Given the description of an element on the screen output the (x, y) to click on. 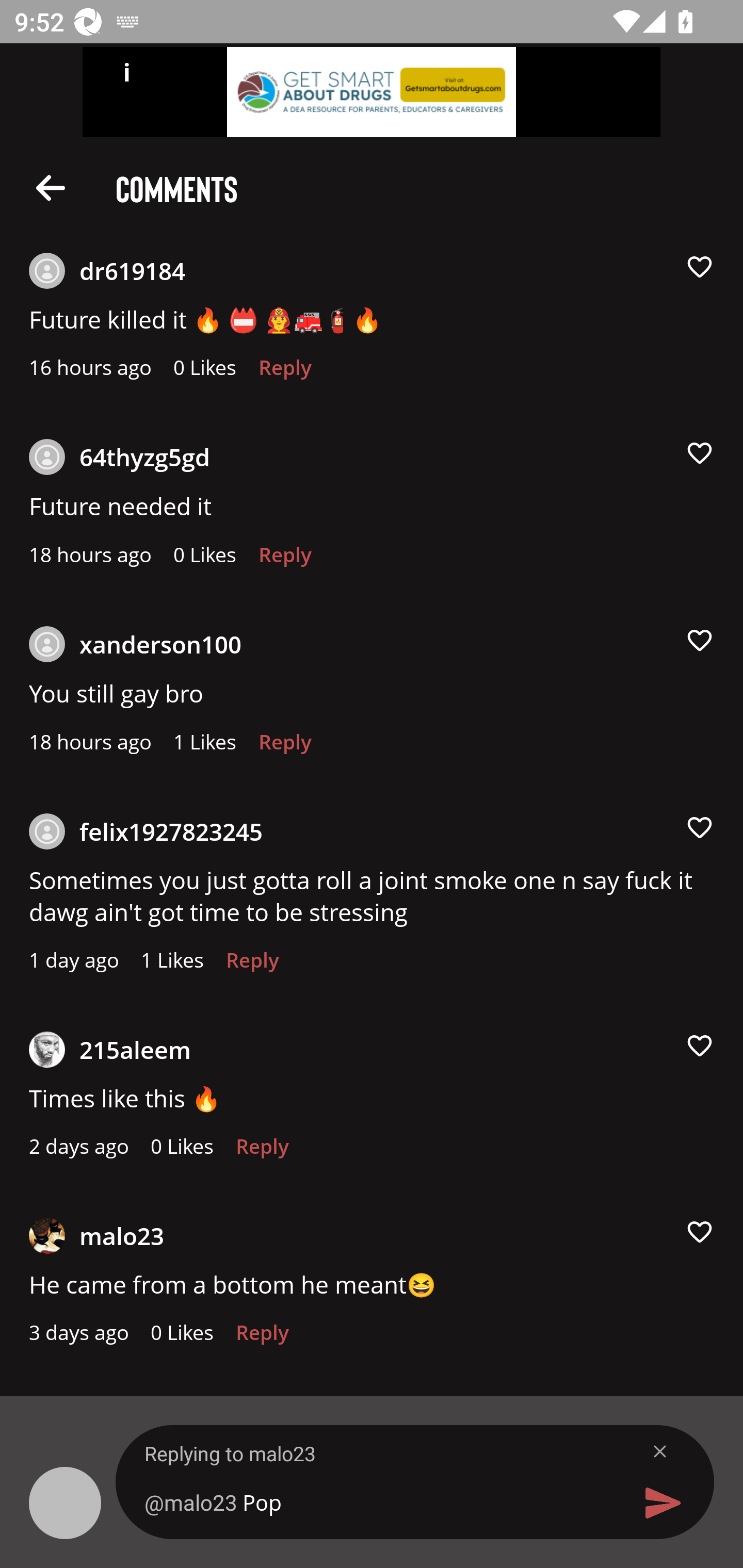
Description (50, 187)
Reply (285, 372)
Reply (285, 559)
Reply (285, 747)
Reply (252, 964)
Reply (261, 1151)
Reply (261, 1337)
Pop (378, 1502)
